Given the description of an element on the screen output the (x, y) to click on. 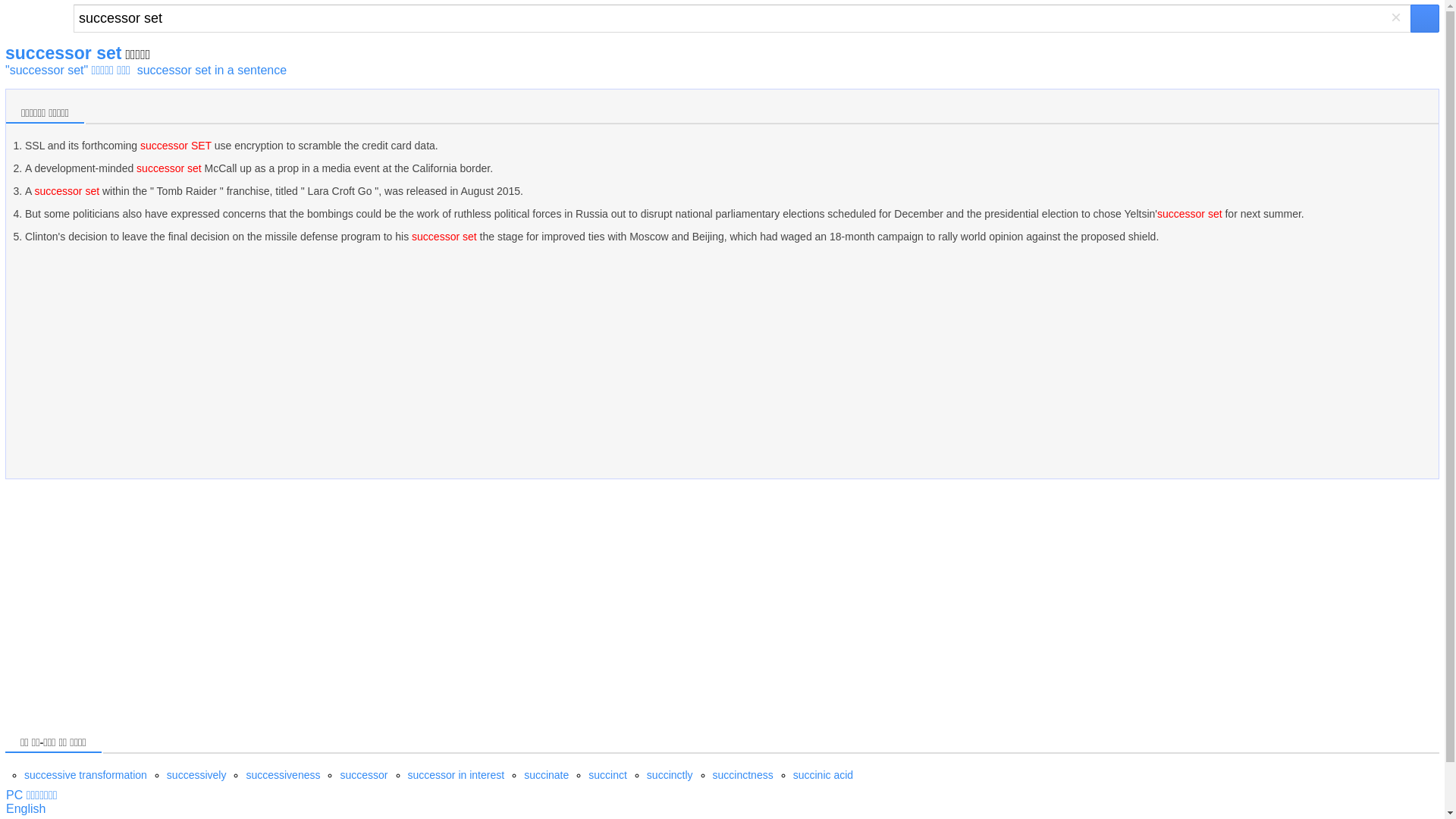
succinic acid (823, 775)
successor set (742, 17)
successively (197, 775)
succinctly (669, 775)
English (25, 808)
successiveness (283, 775)
successor set in Hindi (25, 808)
successive transformation (85, 775)
succinctness (743, 775)
succinct (607, 775)
